Given the description of an element on the screen output the (x, y) to click on. 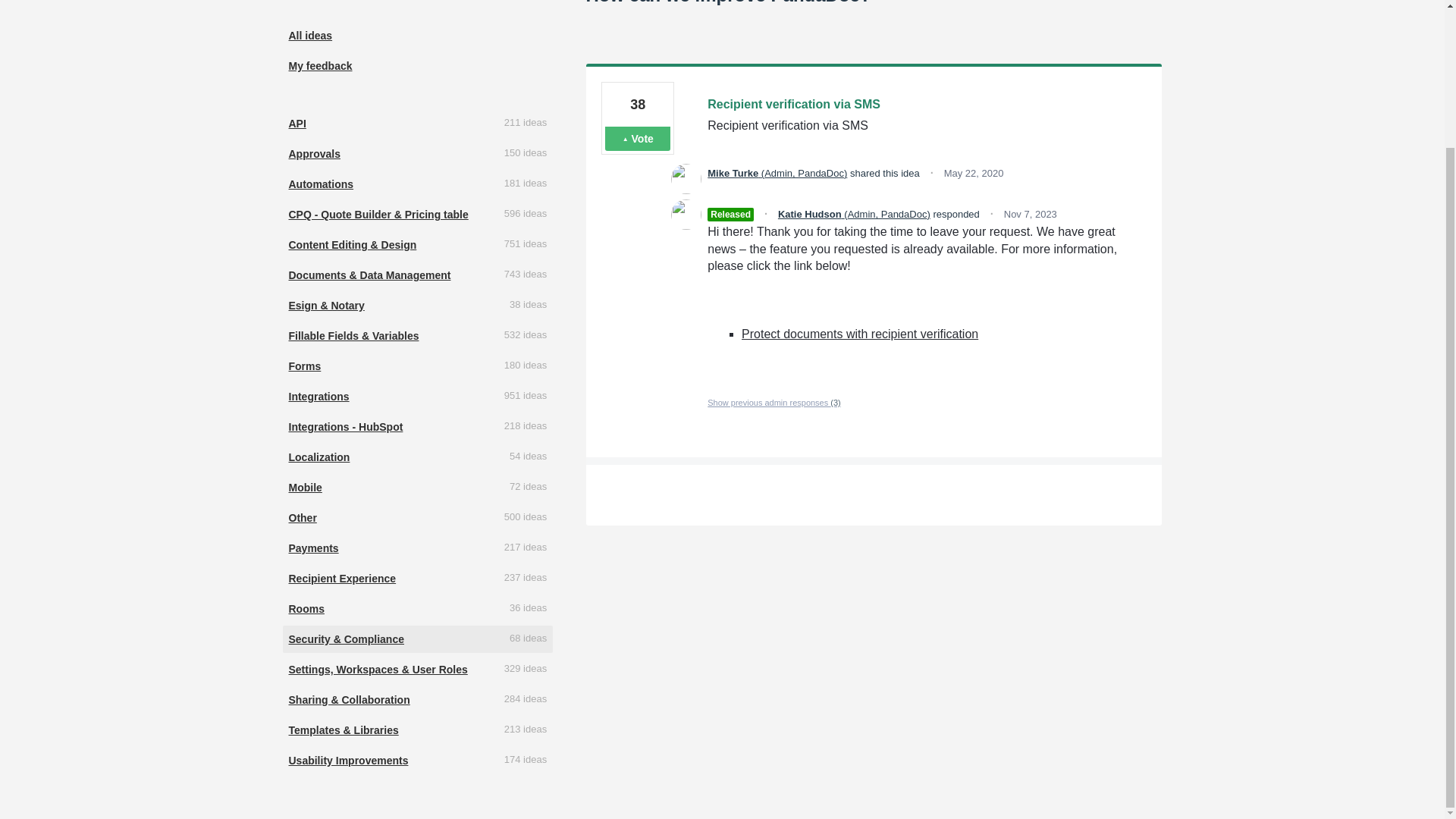
Payments (417, 547)
View all ideas in category Integrations - HubSpot (417, 426)
View all ideas in category Integrations (417, 396)
View all ideas in category Forms (417, 366)
View all ideas in category API (417, 123)
View all ideas in category Localization (417, 456)
Recipient Experience (417, 578)
Other (417, 517)
Vote (637, 138)
Automations (417, 184)
